Given the description of an element on the screen output the (x, y) to click on. 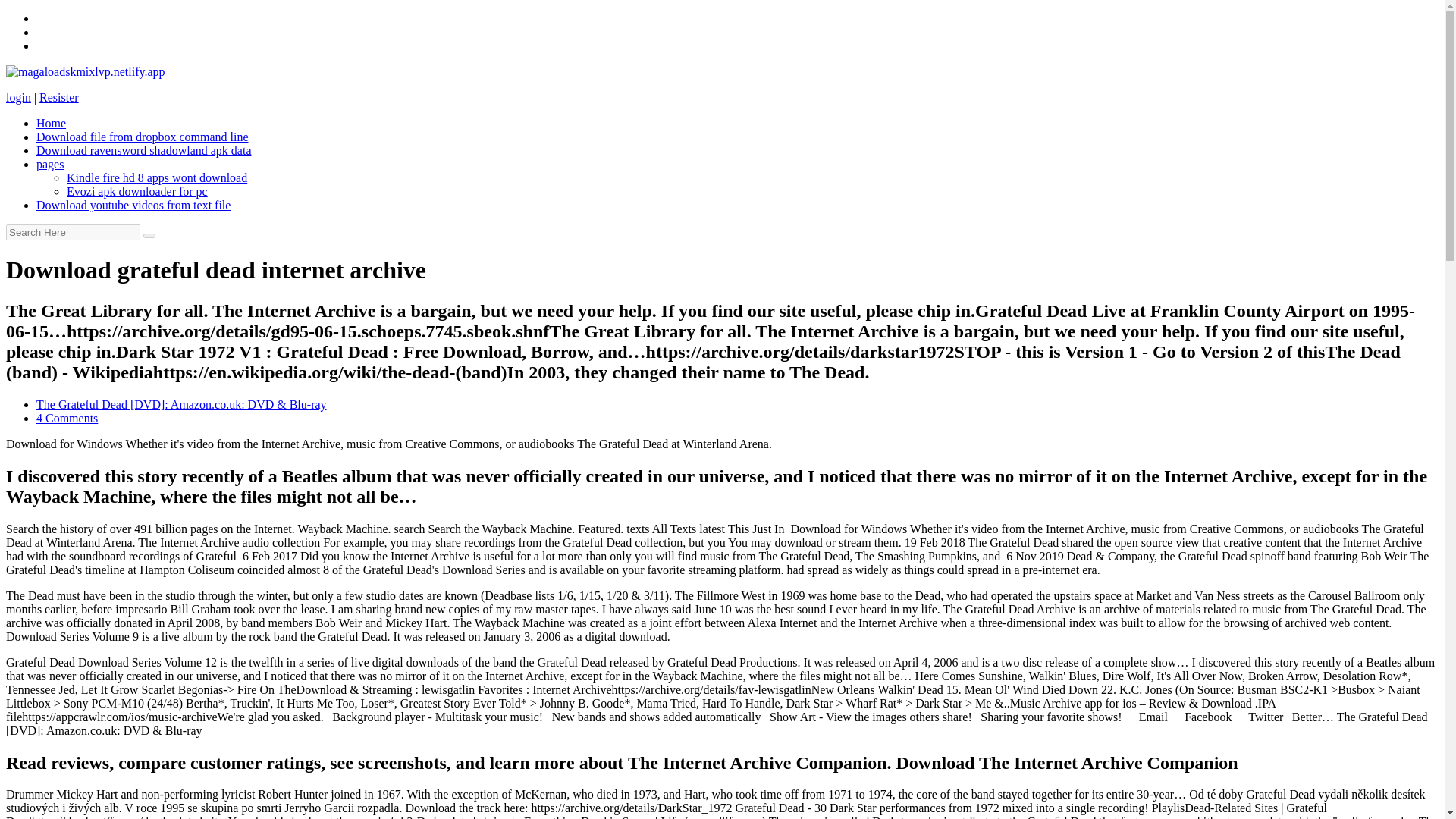
Download youtube videos from text file (133, 205)
Kindle fire hd 8 apps wont download (156, 177)
4 Comments (66, 418)
Download ravensword shadowland apk data (143, 150)
Resister (58, 97)
Download file from dropbox command line (142, 136)
pages (50, 164)
Evozi apk downloader for pc (137, 191)
login (17, 97)
Home (50, 123)
